Given the description of an element on the screen output the (x, y) to click on. 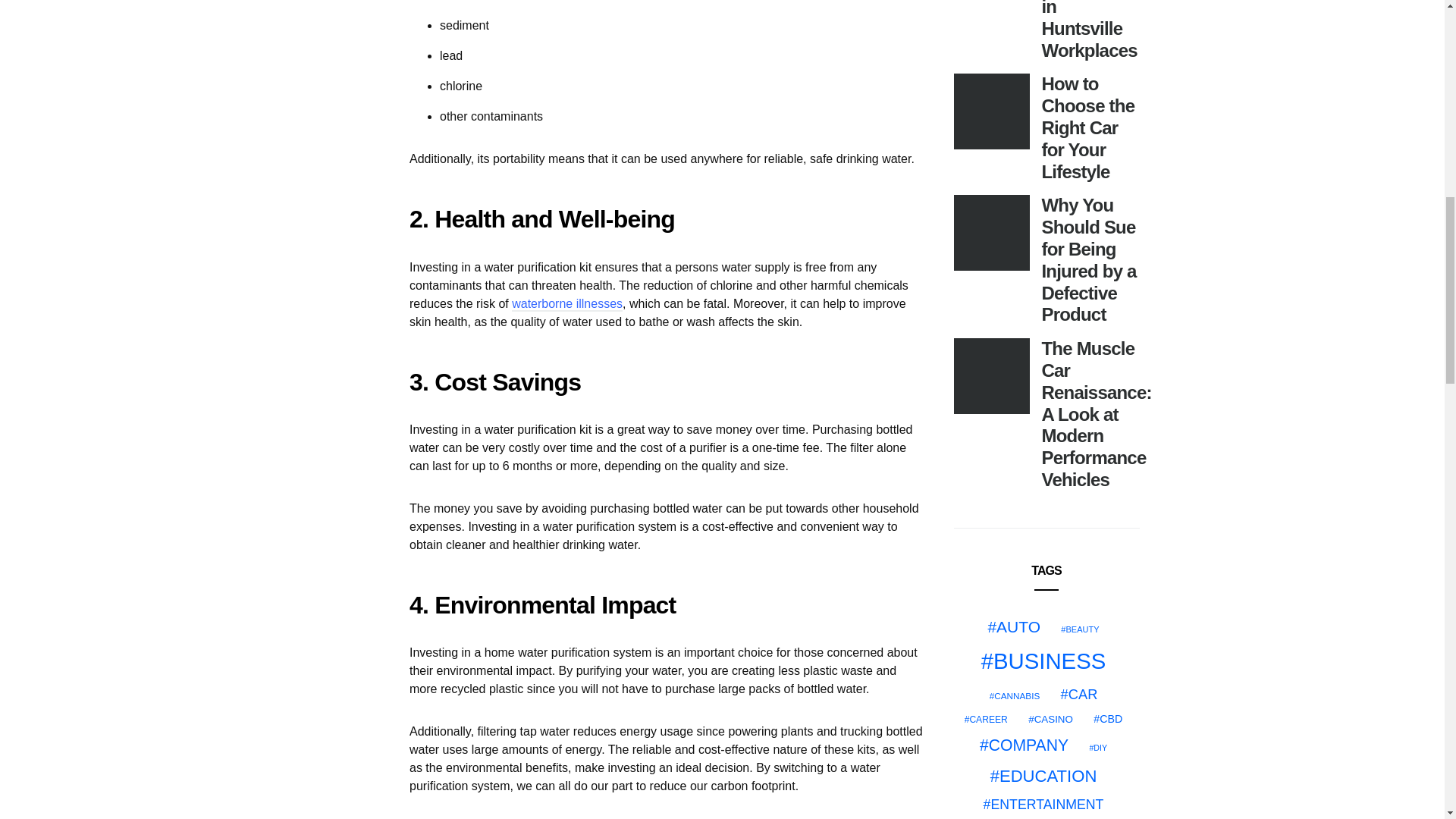
waterborne illnesses (567, 304)
